Given the description of an element on the screen output the (x, y) to click on. 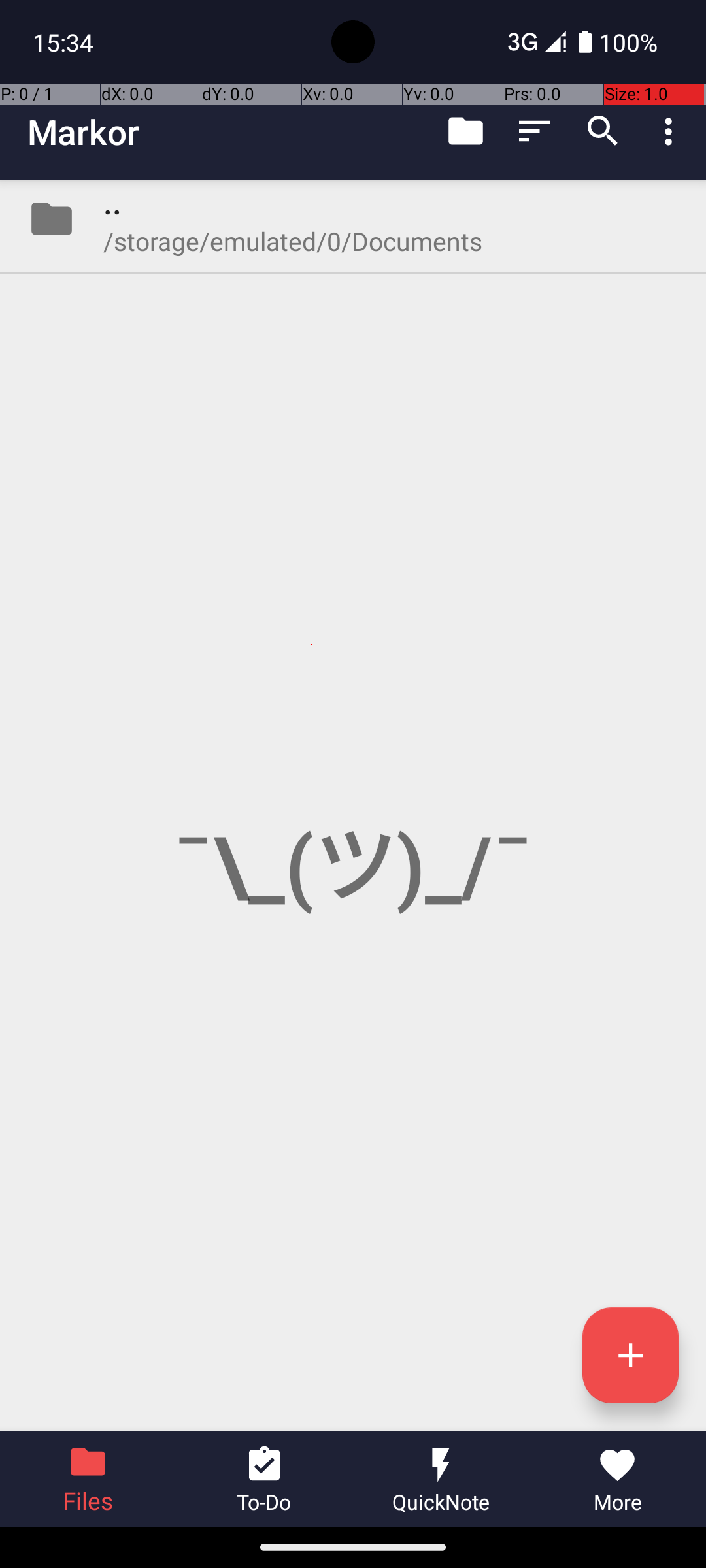
¯\_(ツ)_/¯ Element type: android.widget.TextView (353, 804)
